Given the description of an element on the screen output the (x, y) to click on. 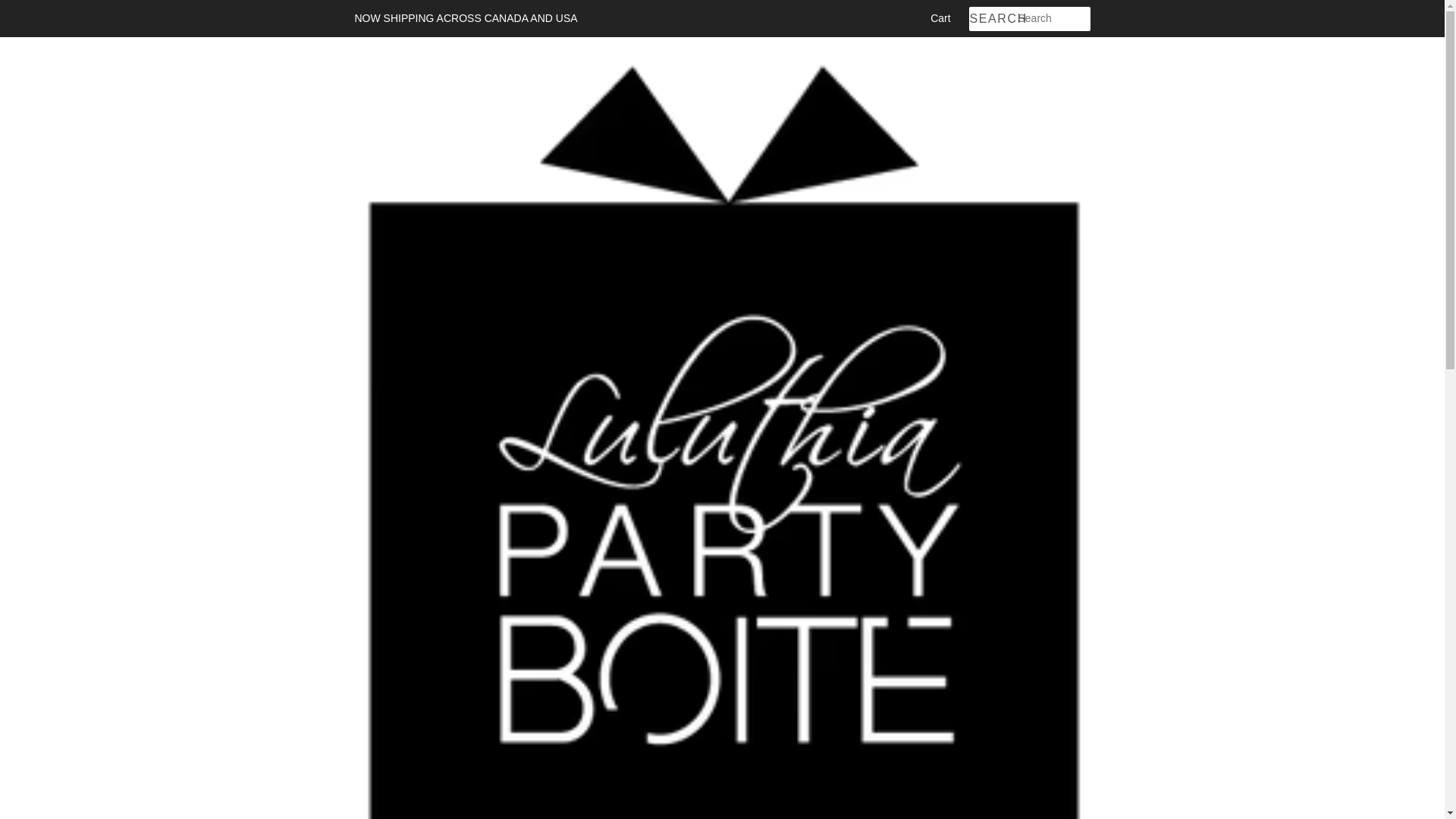
NOW SHIPPING ACROSS CANADA AND USA (466, 18)
SEARCH (993, 18)
Cart (940, 18)
